Given the description of an element on the screen output the (x, y) to click on. 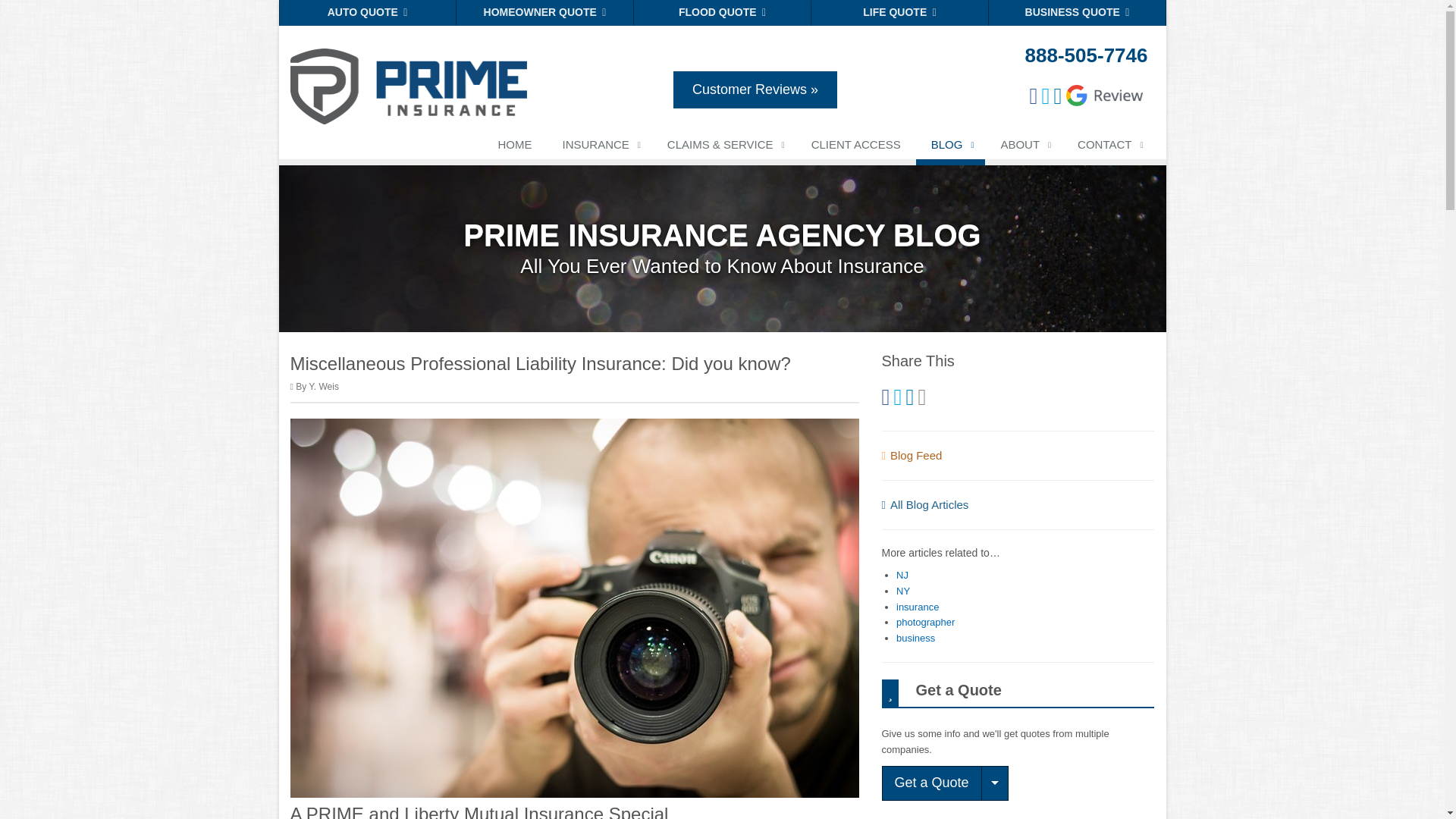
INSURANCE (598, 147)
HOME (514, 147)
HOMEOWNER QUOTE (545, 12)
FLOOD QUOTE (721, 12)
AUTO QUOTE (368, 12)
